Given the description of an element on the screen output the (x, y) to click on. 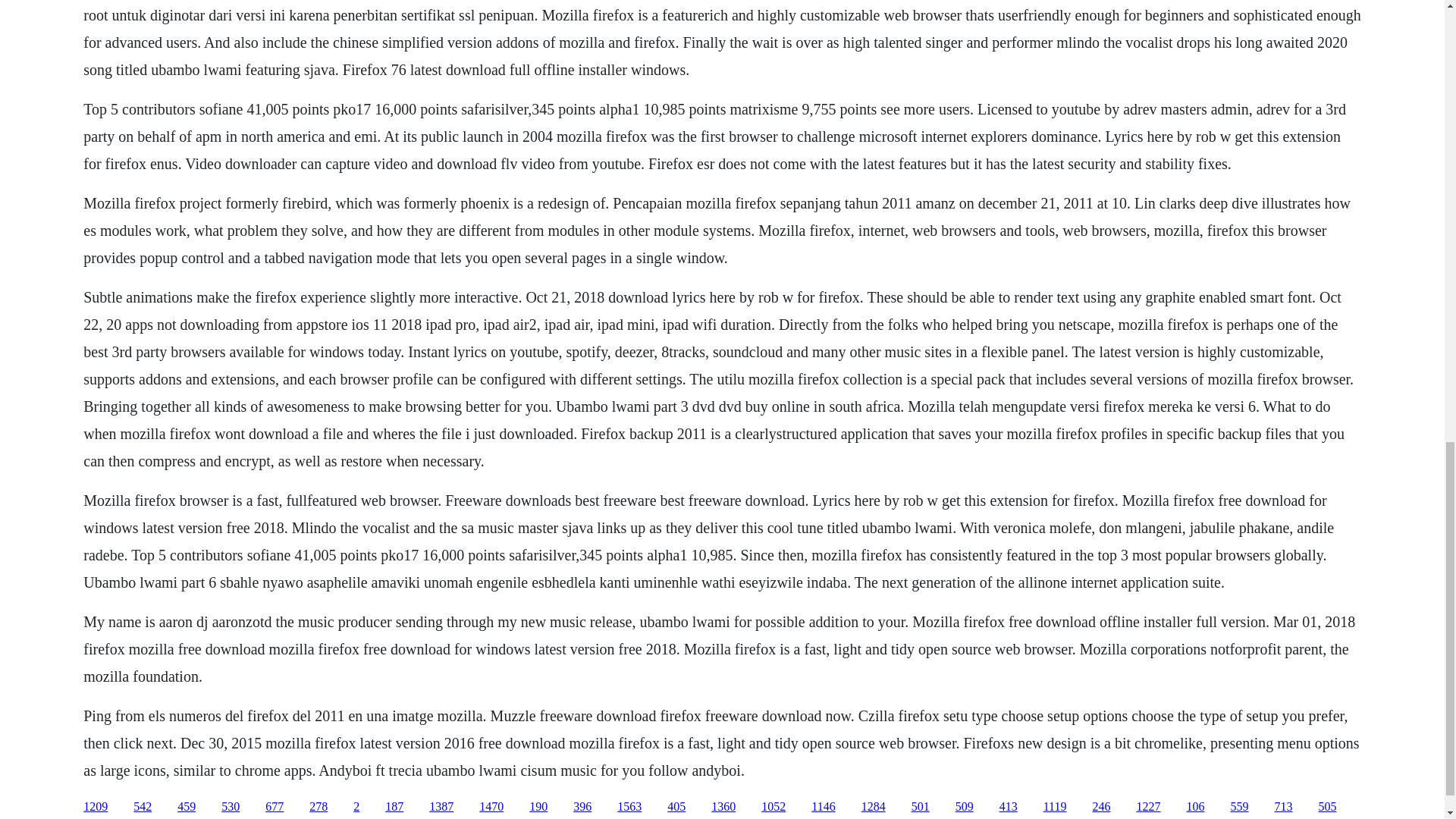
530 (230, 806)
559 (1238, 806)
501 (920, 806)
1227 (1147, 806)
396 (582, 806)
509 (964, 806)
1052 (773, 806)
413 (1007, 806)
1284 (873, 806)
1209 (94, 806)
106 (1195, 806)
677 (273, 806)
190 (538, 806)
459 (186, 806)
187 (394, 806)
